Given the description of an element on the screen output the (x, y) to click on. 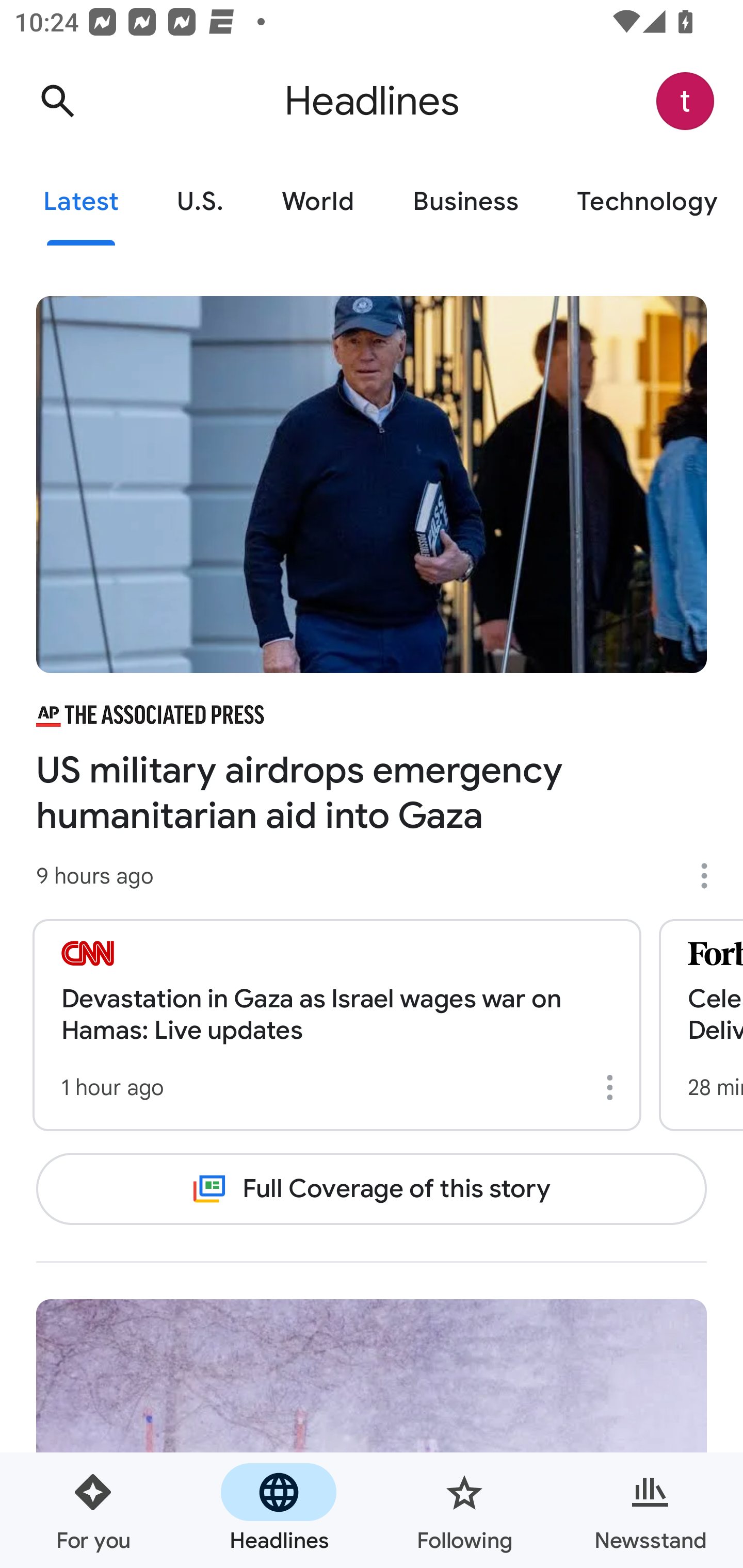
Search (57, 100)
U.S. (199, 202)
World (317, 202)
Business (465, 202)
Technology (645, 202)
More options (711, 875)
More options (613, 1086)
Full Coverage of this story (371, 1188)
For you (92, 1509)
Headlines (278, 1509)
Following (464, 1509)
Newsstand (650, 1509)
